Given the description of an element on the screen output the (x, y) to click on. 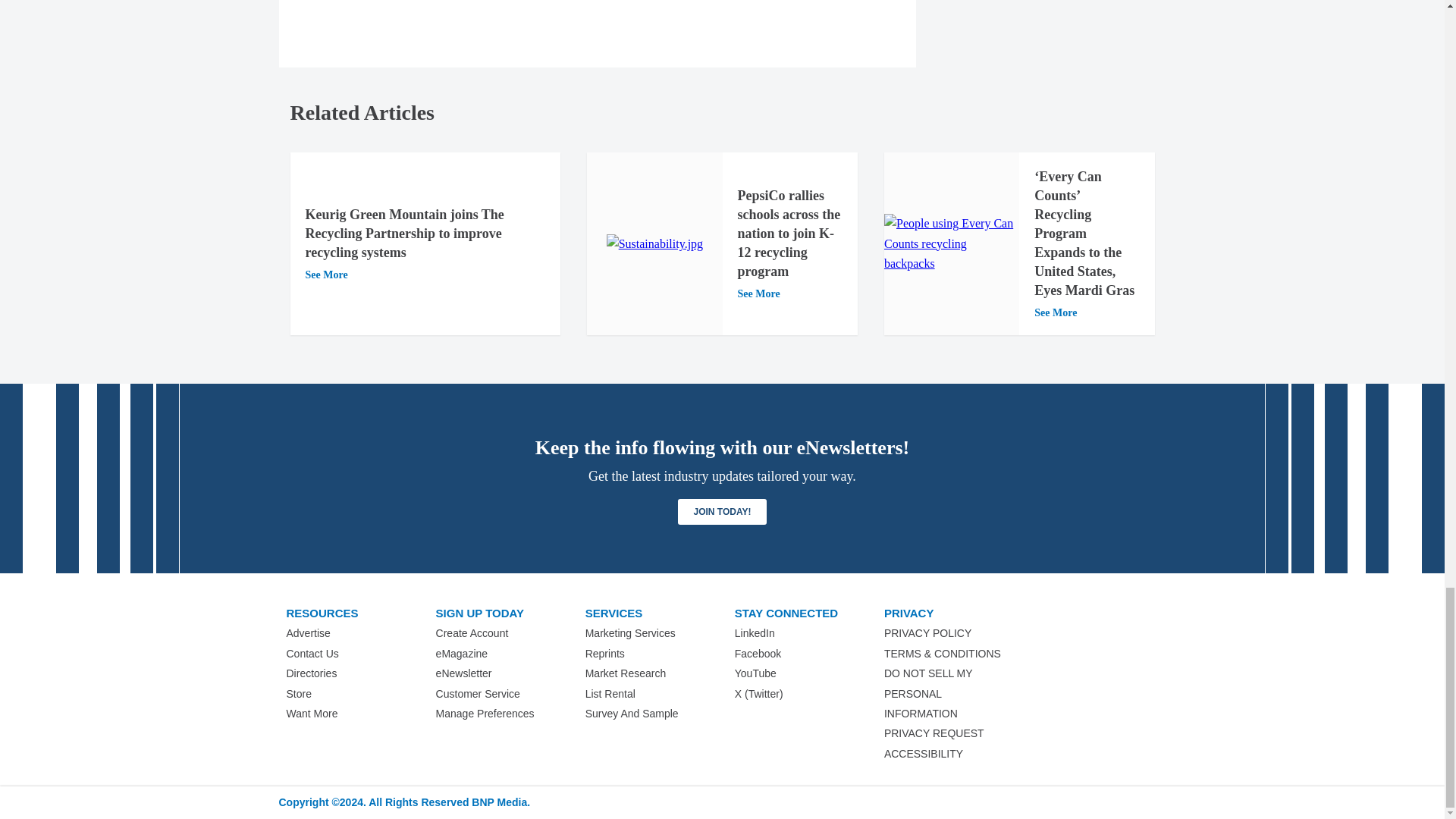
Sustainability.jpg (655, 243)
Every Can Counts (951, 243)
